Given the description of an element on the screen output the (x, y) to click on. 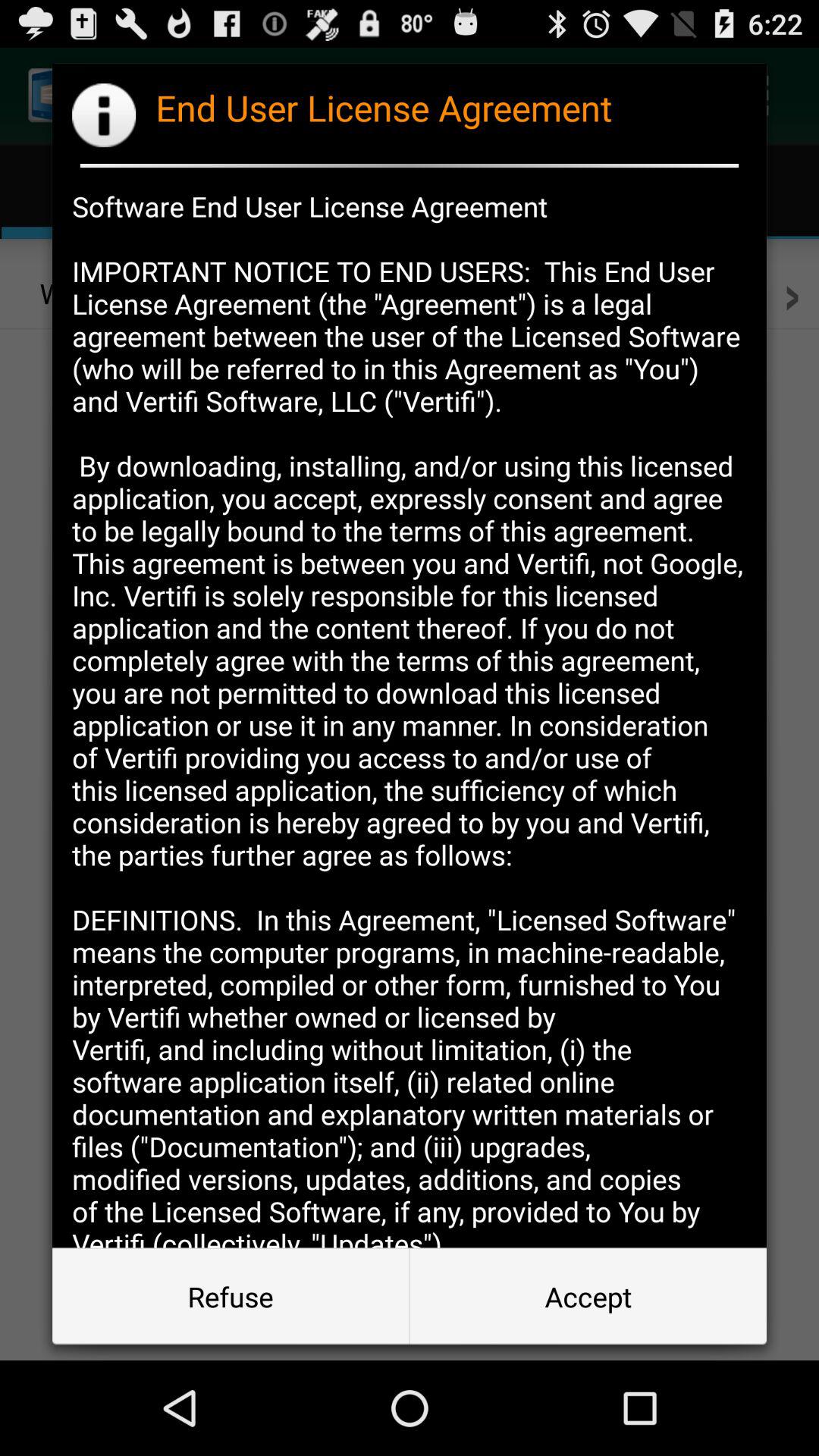
press refuse at the bottom left corner (230, 1296)
